Given the description of an element on the screen output the (x, y) to click on. 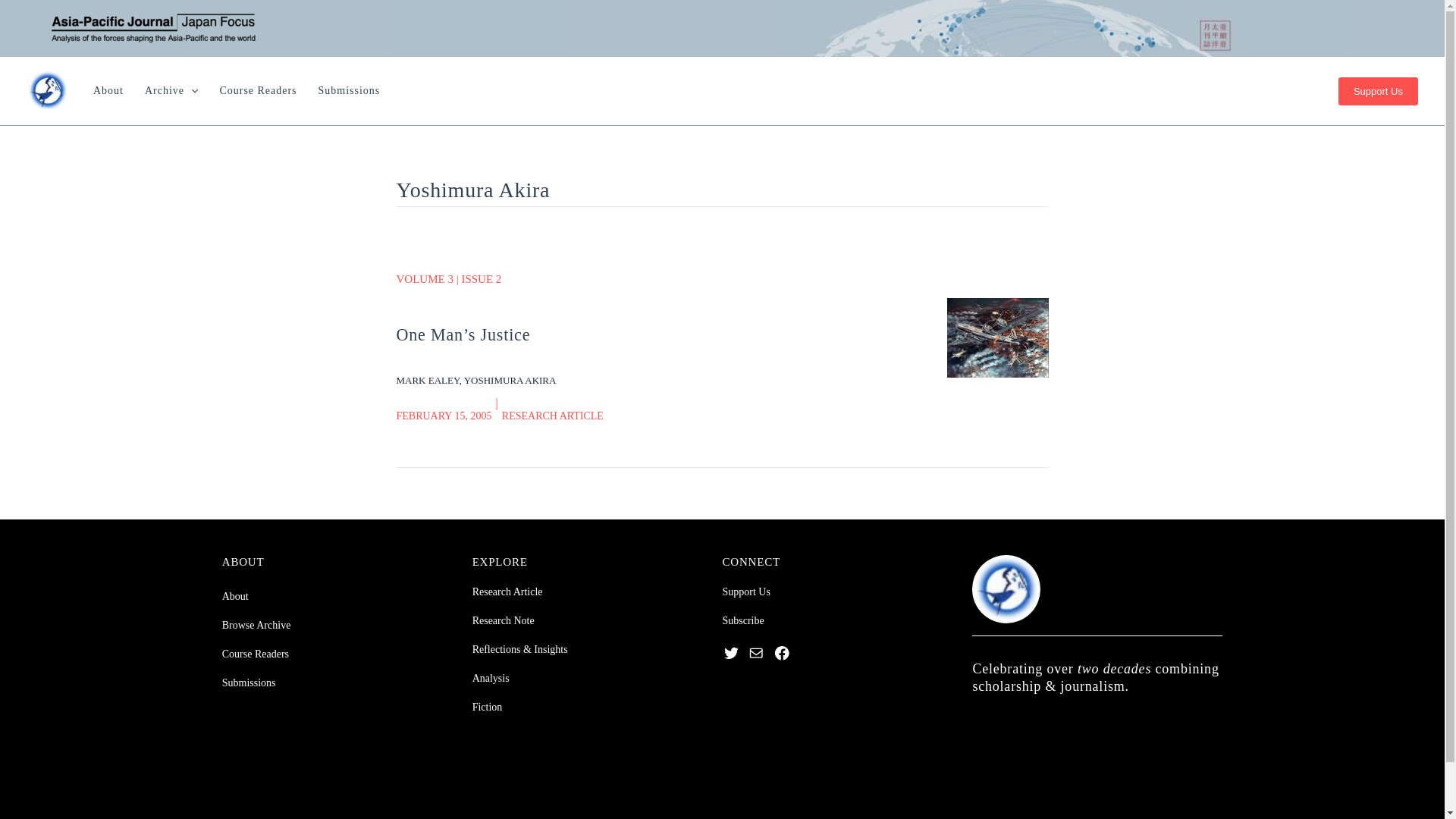
Course Readers (258, 90)
About (109, 90)
Archive (172, 90)
Support Us (1378, 90)
Submissions (350, 90)
